Given the description of an element on the screen output the (x, y) to click on. 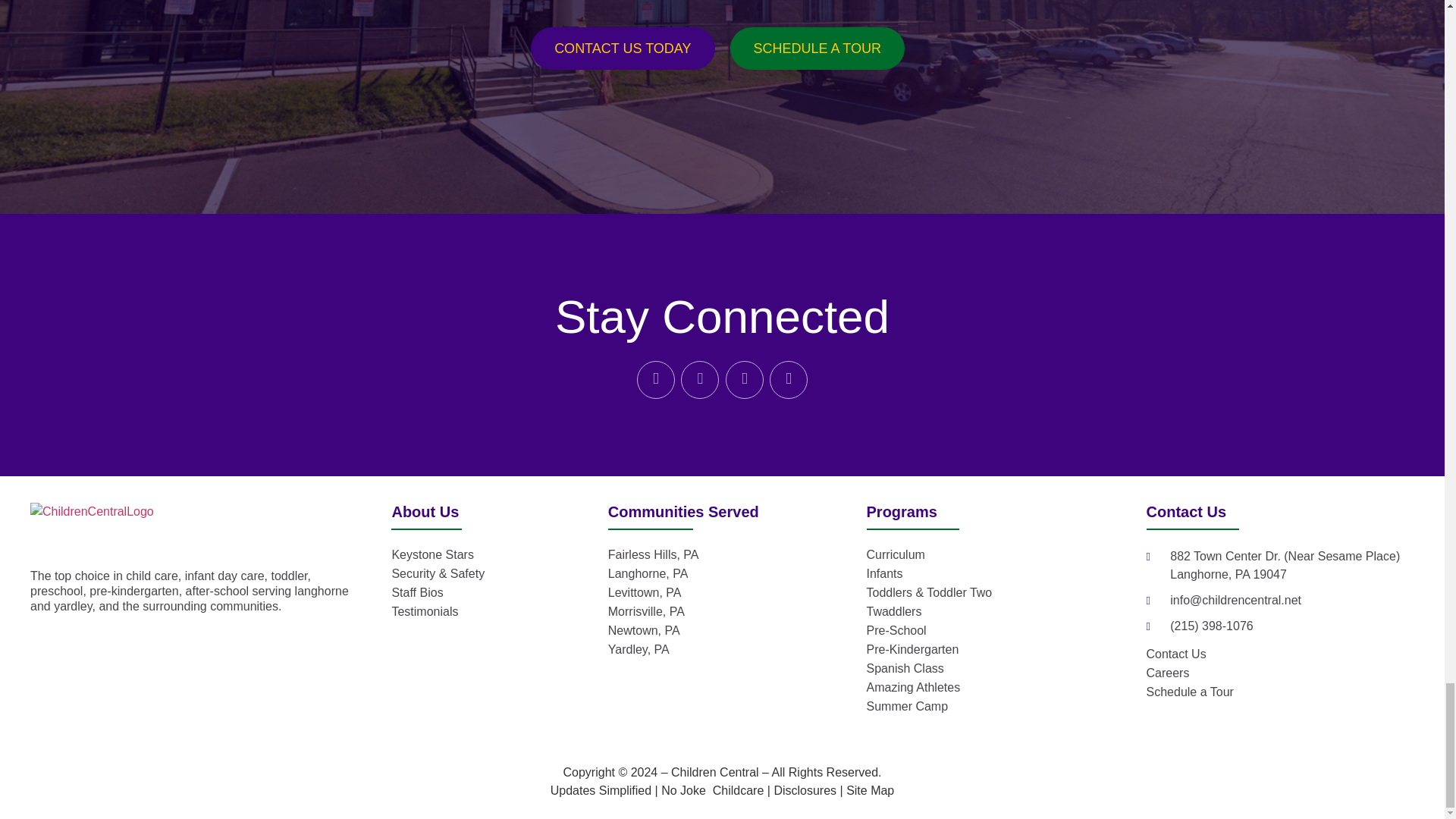
ChildrenCentralLogo (92, 527)
